Given the description of an element on the screen output the (x, y) to click on. 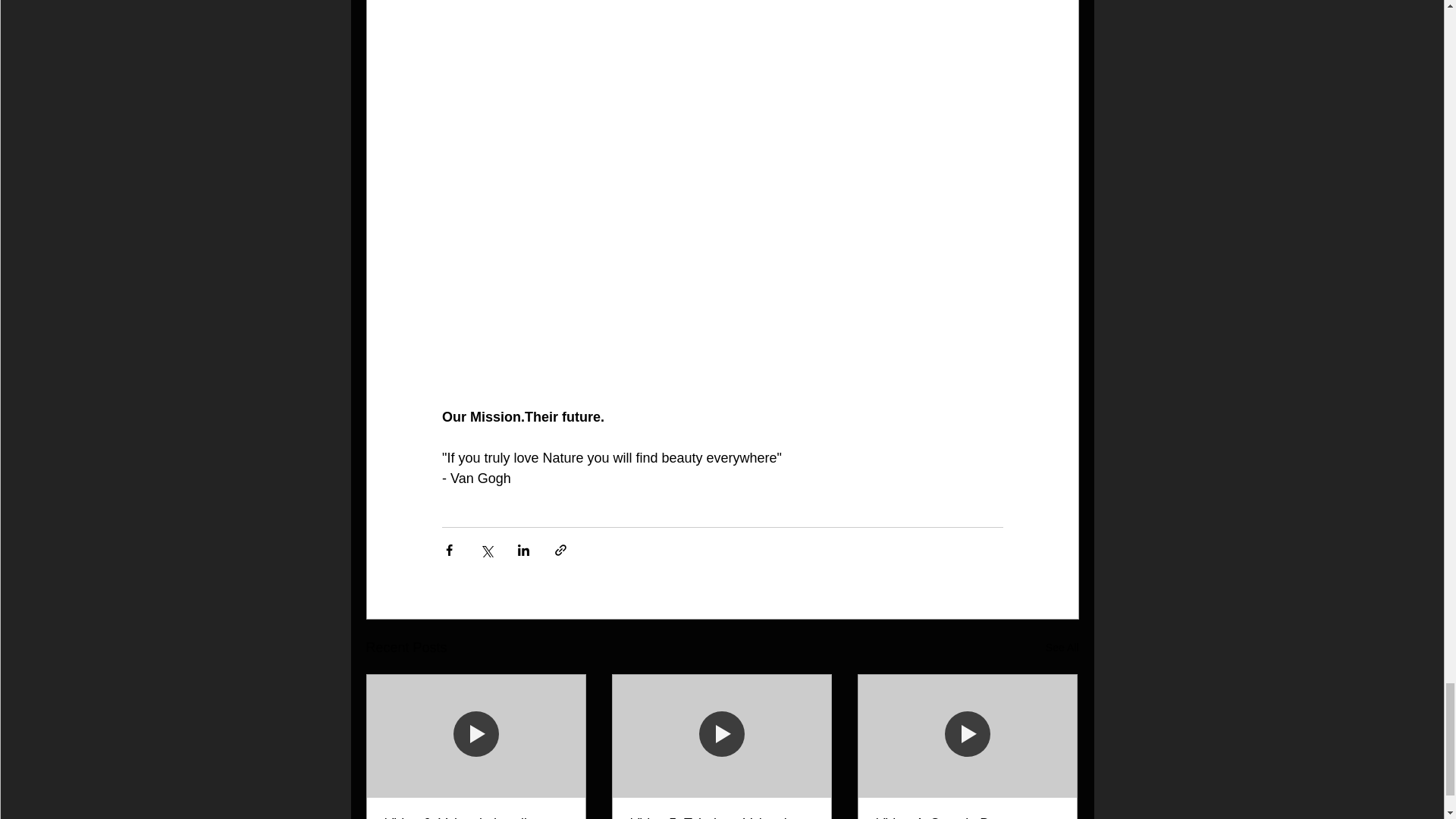
Video 5: Toledo to Valencia (721, 817)
Video 6: Valencia heading North (476, 817)
See All (1061, 648)
Video 4: Castelo Branco to Toledo (967, 817)
